Given the description of an element on the screen output the (x, y) to click on. 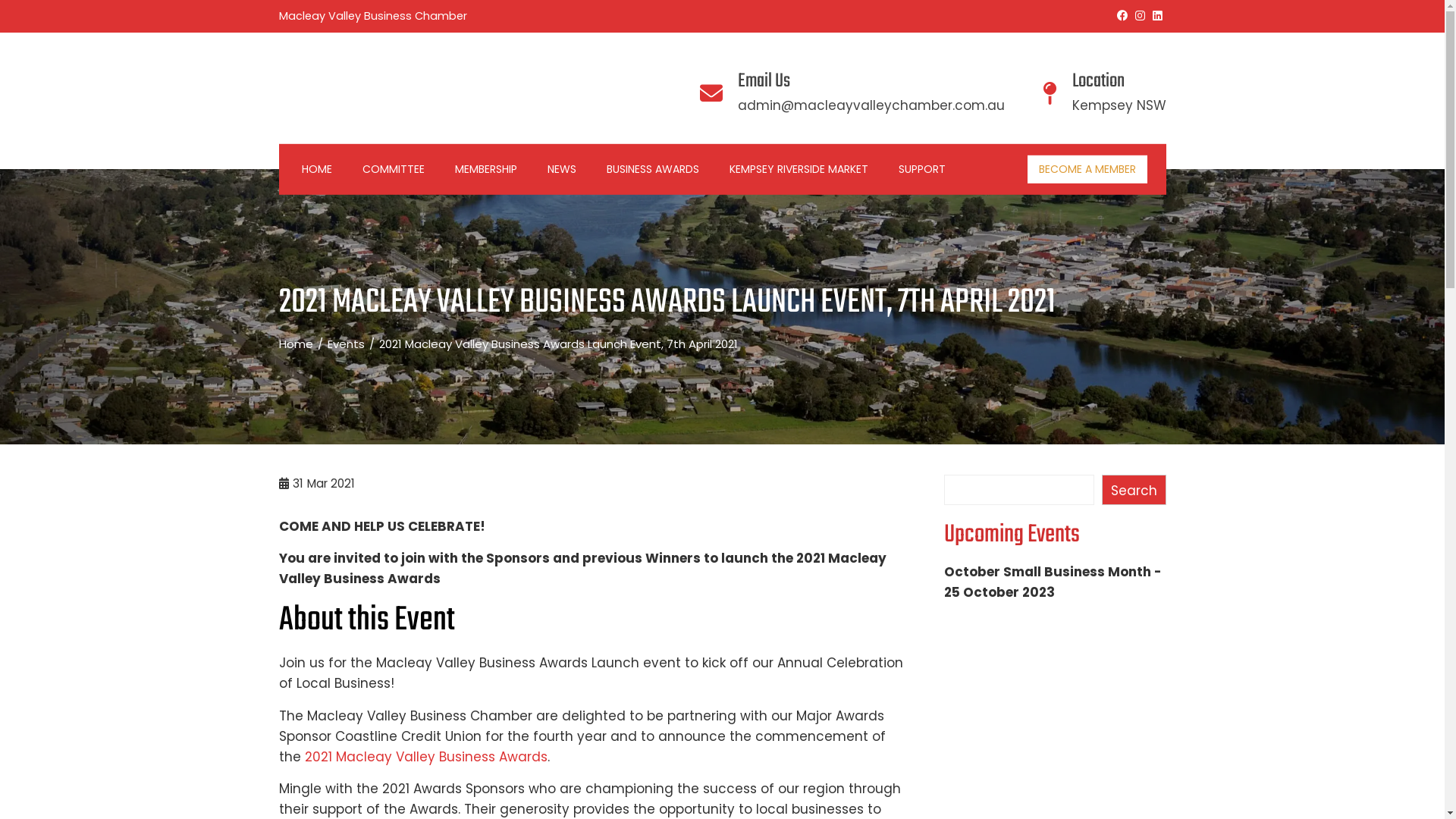
2021 Macleay Valley Business Awards Element type: text (425, 756)
SUPPORT Element type: text (922, 168)
Home Element type: text (296, 343)
MEMBERSHIP Element type: text (484, 168)
Search Element type: text (1133, 489)
BUSINESS AWARDS Element type: text (651, 168)
BECOME A MEMBER Element type: text (1086, 168)
HOME Element type: text (315, 168)
Events Element type: text (345, 343)
NEWS Element type: text (560, 168)
KEMPSEY RIVERSIDE MARKET Element type: text (797, 168)
COMMITTEE Element type: text (392, 168)
